Given the description of an element on the screen output the (x, y) to click on. 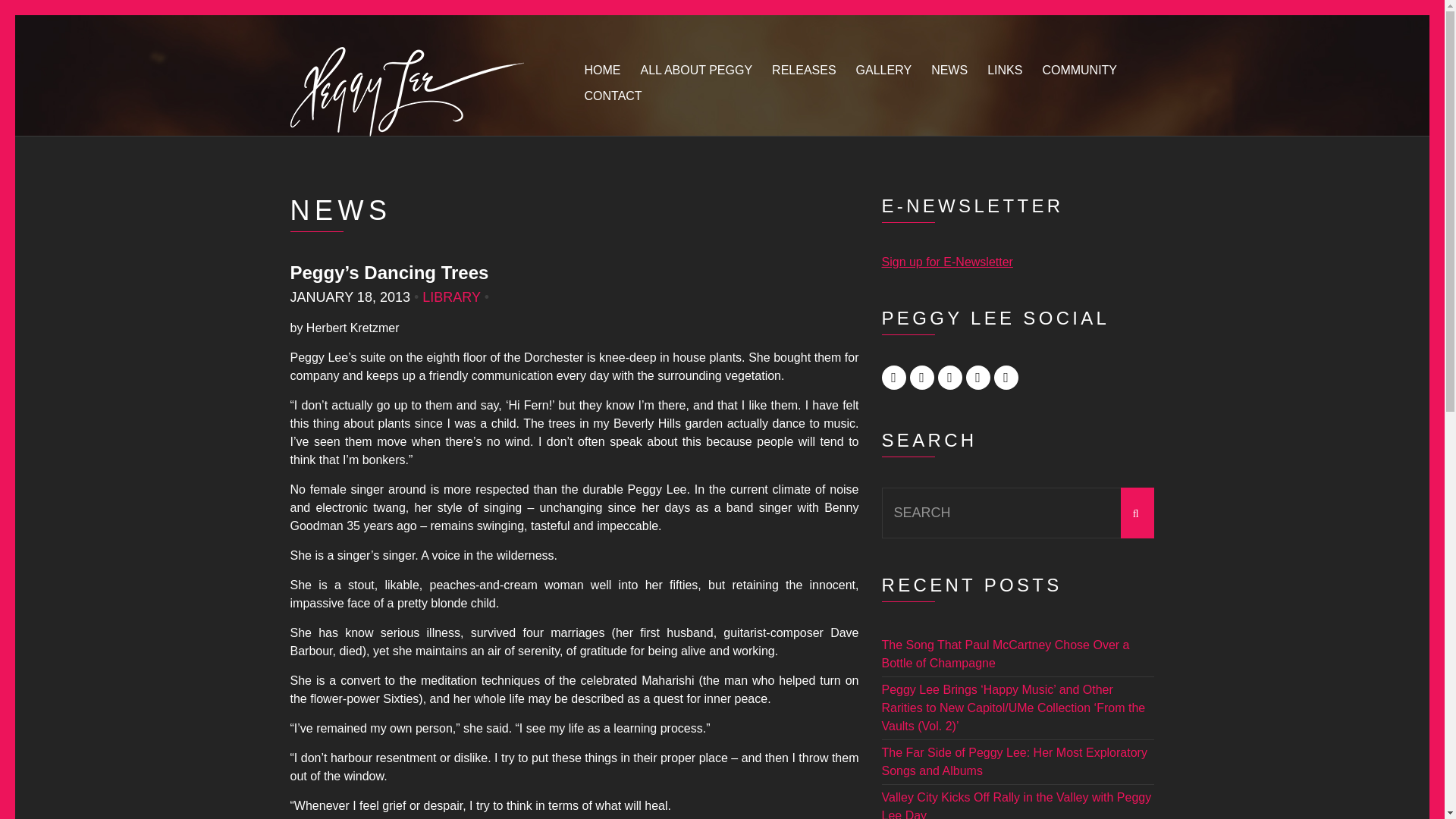
Instagram (922, 377)
NEWS (949, 71)
GALLERY (884, 71)
LINKS (1004, 71)
Spotify (1004, 377)
HOME (601, 71)
Facebook (892, 377)
Twitter (948, 377)
RELEASES (803, 71)
COMMUNITY (1079, 71)
